Given the description of an element on the screen output the (x, y) to click on. 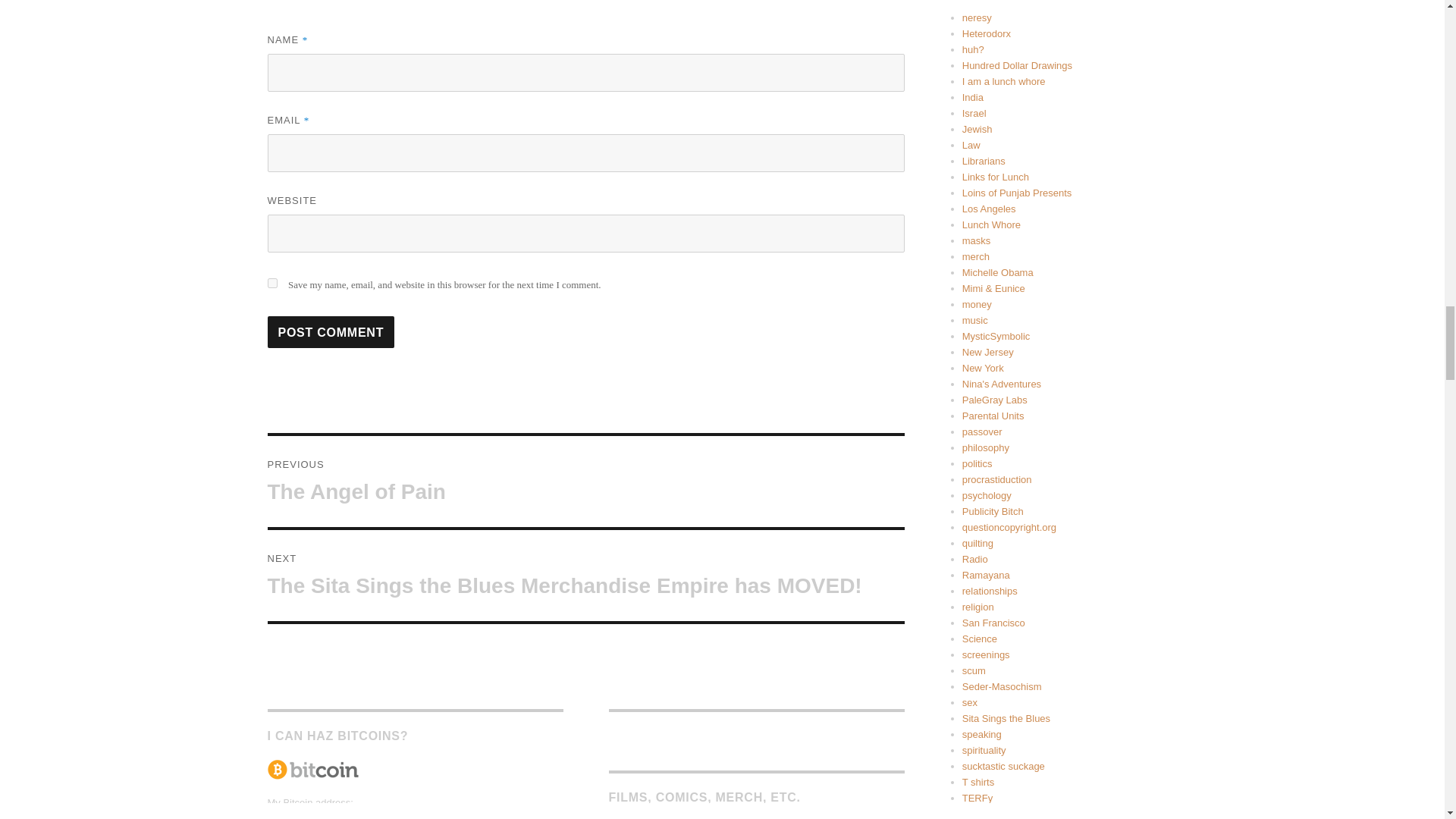
yes (271, 283)
Post Comment (585, 481)
Post Comment (330, 332)
